Given the description of an element on the screen output the (x, y) to click on. 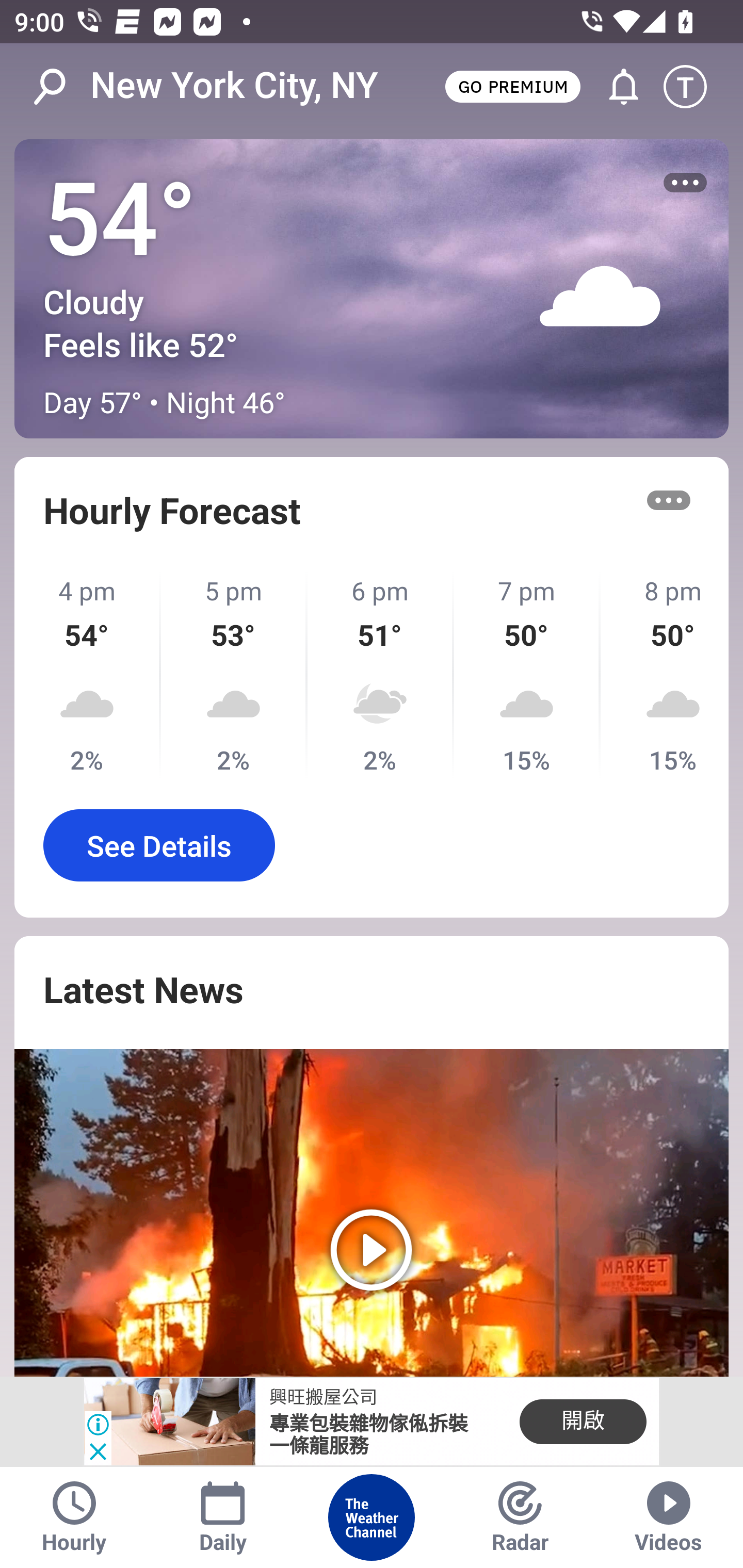
Search (59, 86)
Go to Alerts and Notifications (614, 86)
Setting icon T (694, 86)
New York City, NY (234, 85)
GO PREMIUM (512, 85)
More options (684, 182)
More options (668, 500)
4 pm 54° 2% (87, 674)
5 pm 53° 2% (234, 674)
6 pm 51° 2% (380, 674)
7 pm 50° 15% (526, 674)
8 pm 50° 15% (664, 674)
See Details (158, 845)
Play (371, 1212)
www.hw-moving (168, 1421)
興旺搬屋公司 (323, 1397)
開啟 (582, 1421)
專業包裝雜物傢俬拆裝 一條龍服務 專業包裝雜物傢俬拆裝 一條龍服務 (368, 1435)
Hourly Tab Hourly (74, 1517)
Daily Tab Daily (222, 1517)
Radar Tab Radar (519, 1517)
Videos Tab Videos (668, 1517)
